Given the description of an element on the screen output the (x, y) to click on. 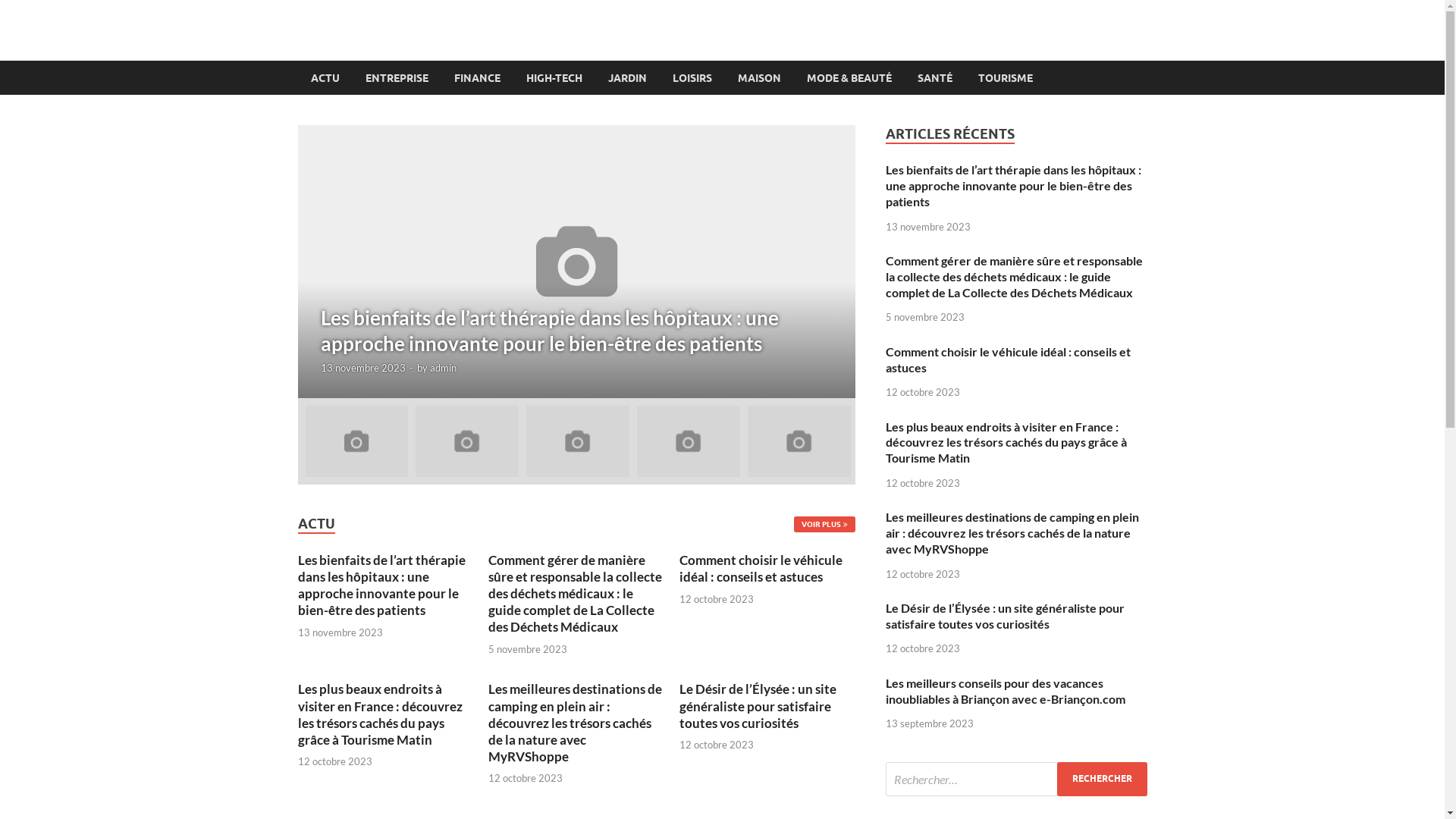
HIGH-TECH Element type: text (553, 77)
ENTREPRISE Element type: text (395, 77)
admin Element type: text (442, 366)
13 novembre 2023 Element type: text (362, 366)
TOURISME Element type: text (1004, 77)
MAISON Element type: text (758, 77)
JARDIN Element type: text (626, 77)
ACTU Element type: text (324, 77)
LOISIRS Element type: text (691, 77)
FINANCE Element type: text (477, 77)
VOIR PLUS Element type: text (823, 524)
Rechercher Element type: text (1102, 779)
